Given the description of an element on the screen output the (x, y) to click on. 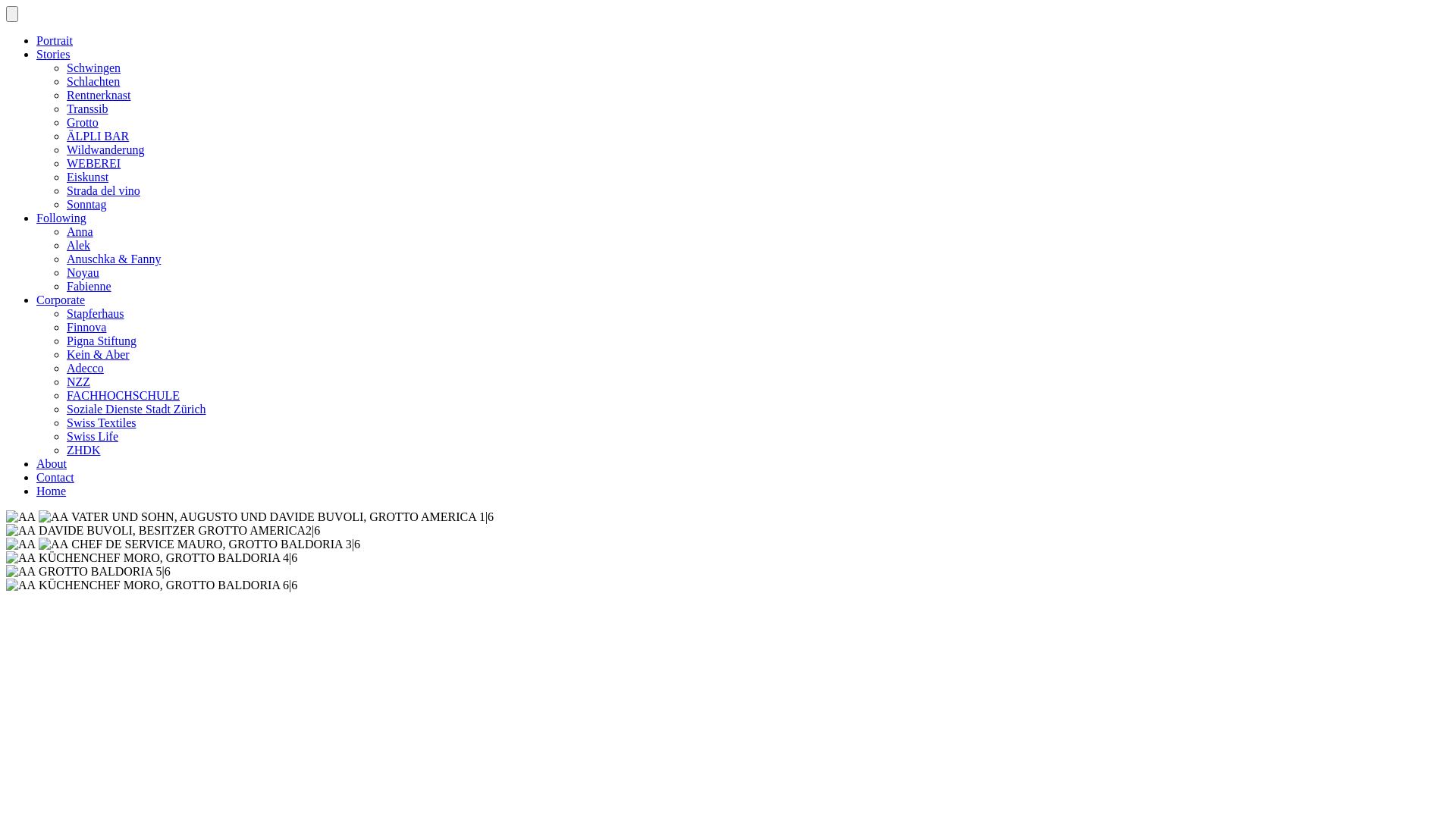
Swiss Life Element type: text (92, 435)
Pigna Stiftung Element type: text (101, 340)
Kein & Aber Element type: text (97, 354)
Stapferhaus Element type: text (95, 313)
Transsib Element type: text (87, 108)
Wildwanderung Element type: text (105, 149)
Finnova Element type: text (86, 326)
About Element type: text (51, 463)
Home Element type: text (50, 490)
Fabienne Element type: text (88, 285)
Strada del vino Element type: text (103, 190)
Portrait Element type: text (54, 40)
Swiss Textiles Element type: text (100, 422)
Corporate Element type: text (60, 299)
Alek Element type: text (78, 244)
Stories Element type: text (52, 53)
Contact Element type: text (55, 476)
Anuschka & Fanny Element type: text (113, 258)
FACHHOCHSCHULE Element type: text (122, 395)
Grotto Element type: text (82, 122)
Schlachten Element type: text (92, 81)
Anna Element type: text (79, 231)
Schwingen Element type: text (93, 67)
Adecco Element type: text (84, 367)
NZZ Element type: text (78, 381)
Sonntag Element type: text (86, 203)
ZHDK Element type: text (83, 449)
Noyau Element type: text (82, 272)
Eiskunst Element type: text (87, 176)
Following Element type: text (61, 217)
WEBEREI Element type: text (93, 162)
Rentnerknast Element type: text (98, 94)
